Given the description of an element on the screen output the (x, y) to click on. 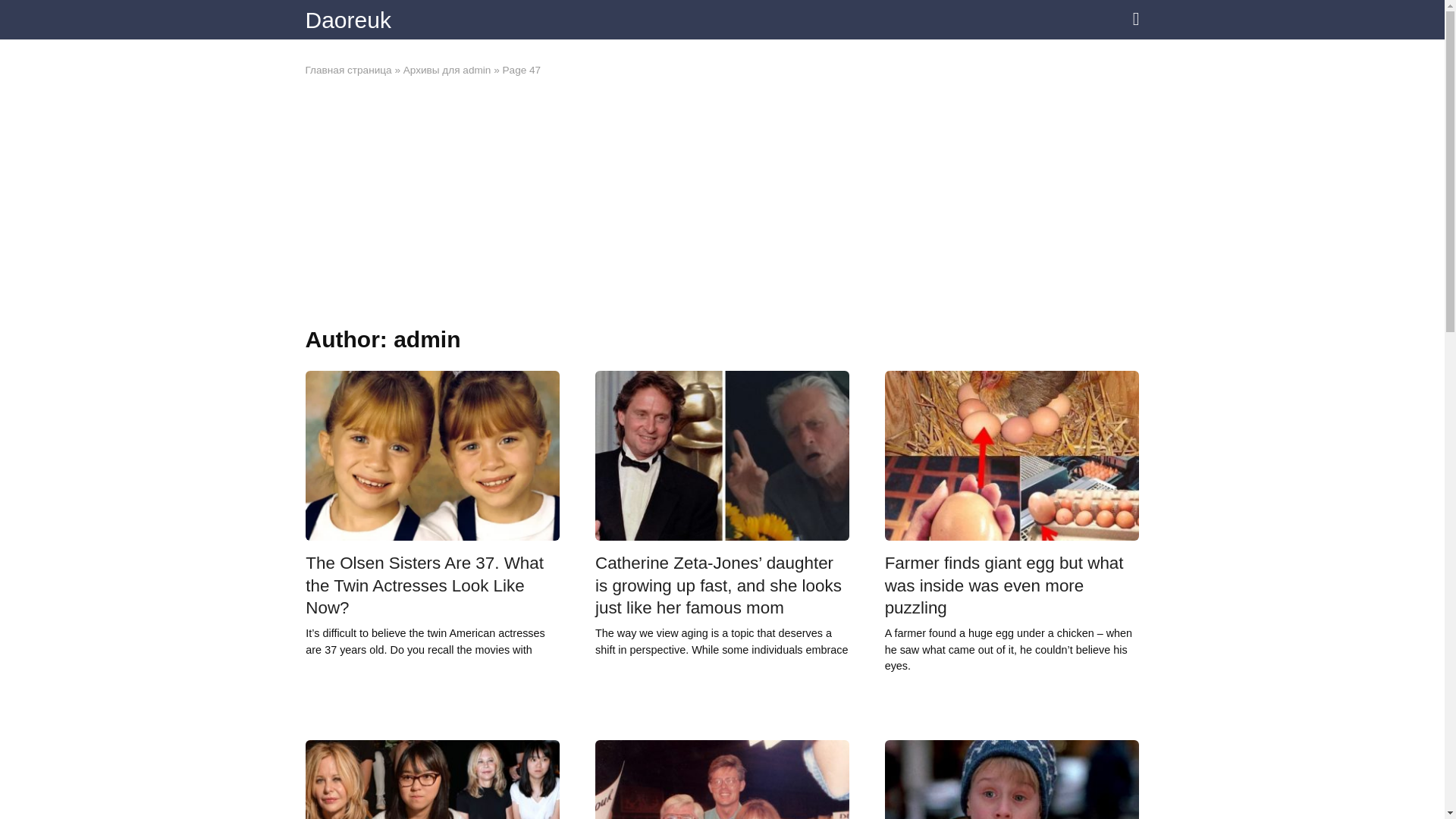
Daoreuk (347, 19)
